Given the description of an element on the screen output the (x, y) to click on. 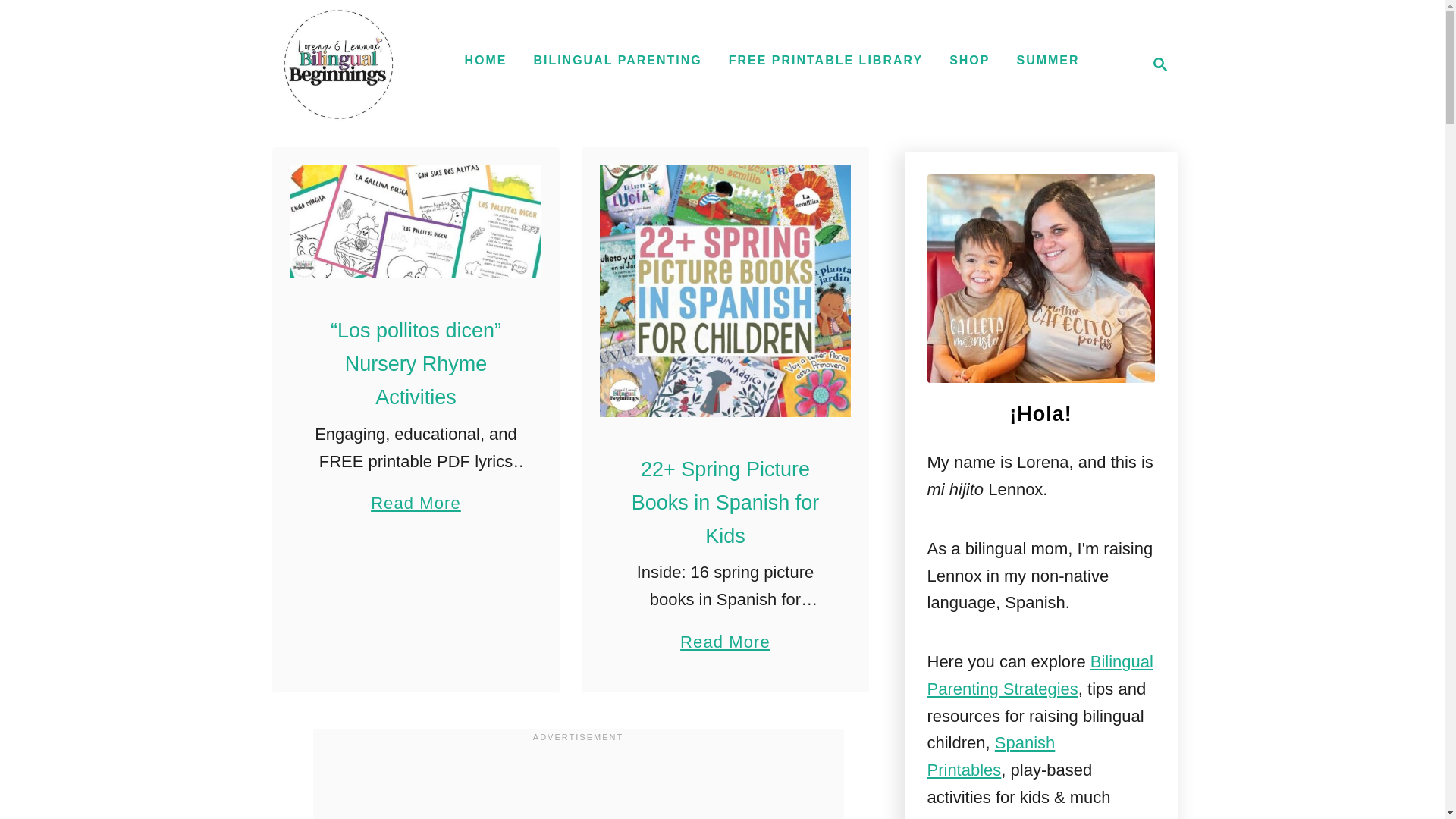
SUMMER (1155, 64)
HOME (1047, 60)
FREE PRINTABLE LIBRARY (485, 60)
Bilingual Beginnings (825, 60)
BILINGUAL PARENTING (339, 64)
SHOP (617, 60)
Magnifying Glass (969, 60)
